Given the description of an element on the screen output the (x, y) to click on. 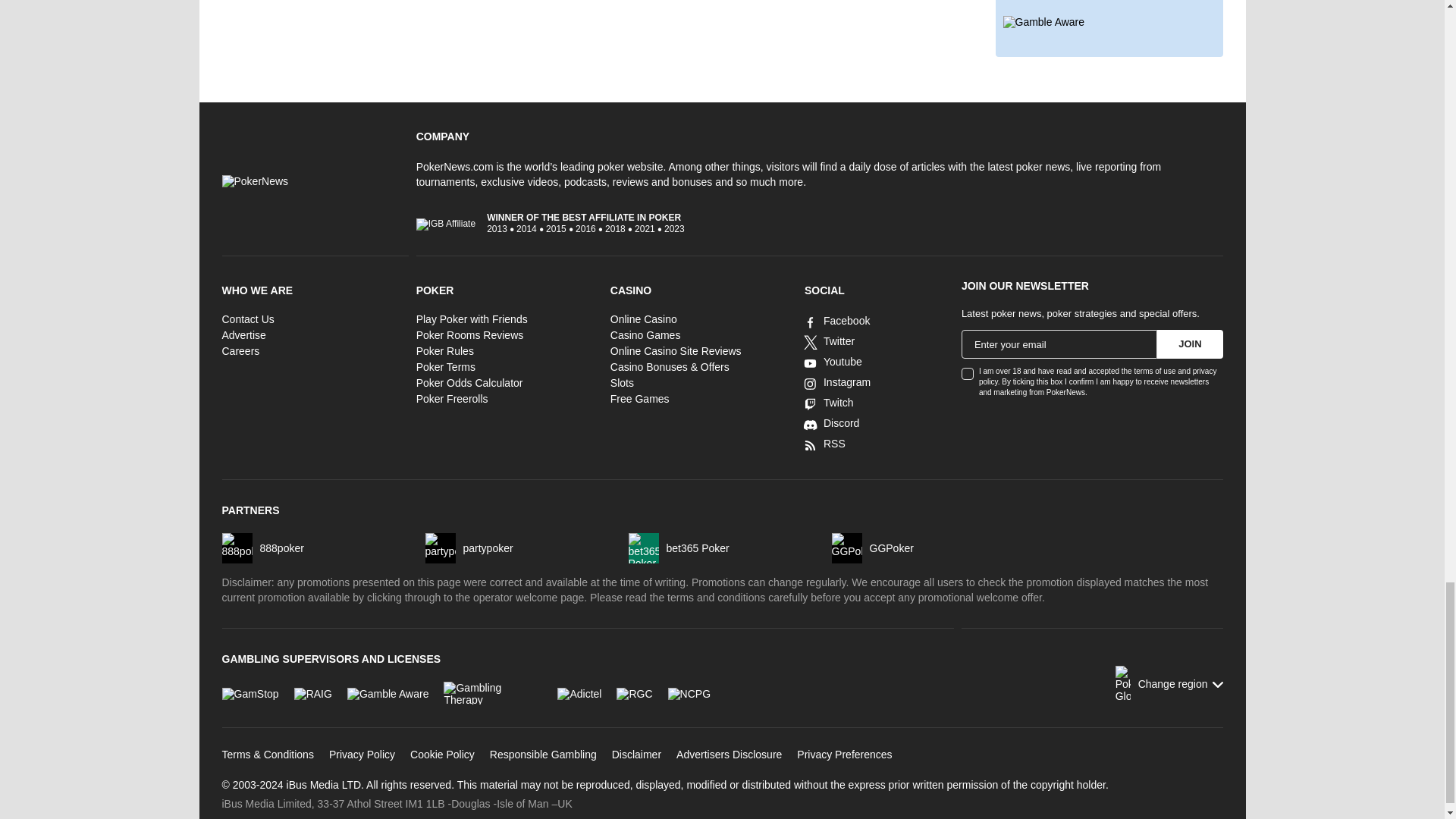
GambleAware (388, 692)
Raig (312, 692)
Responsible Gambling Council (633, 692)
GamStop (249, 692)
National Council on Problem Gambling (689, 692)
Gambling Therapy (492, 692)
on (967, 373)
Adictel (579, 692)
